Given the description of an element on the screen output the (x, y) to click on. 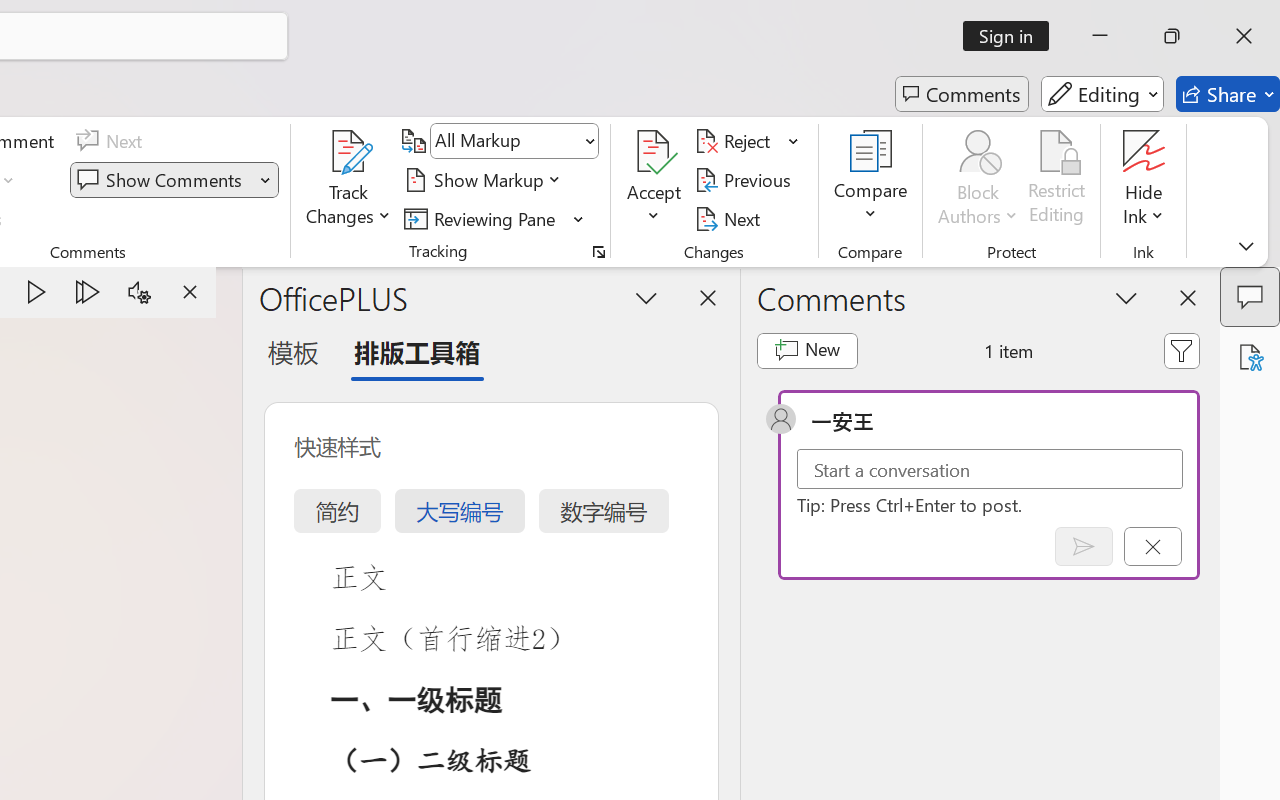
Settings (139, 292)
Sign in (1012, 35)
Stop (190, 292)
Block Authors (977, 151)
Accept and Move to Next (653, 151)
Accessibility Assistant (1249, 357)
Reject (747, 141)
Compare (870, 179)
Filter (1181, 350)
Post comment (Ctrl + Enter) (1083, 546)
